Given the description of an element on the screen output the (x, y) to click on. 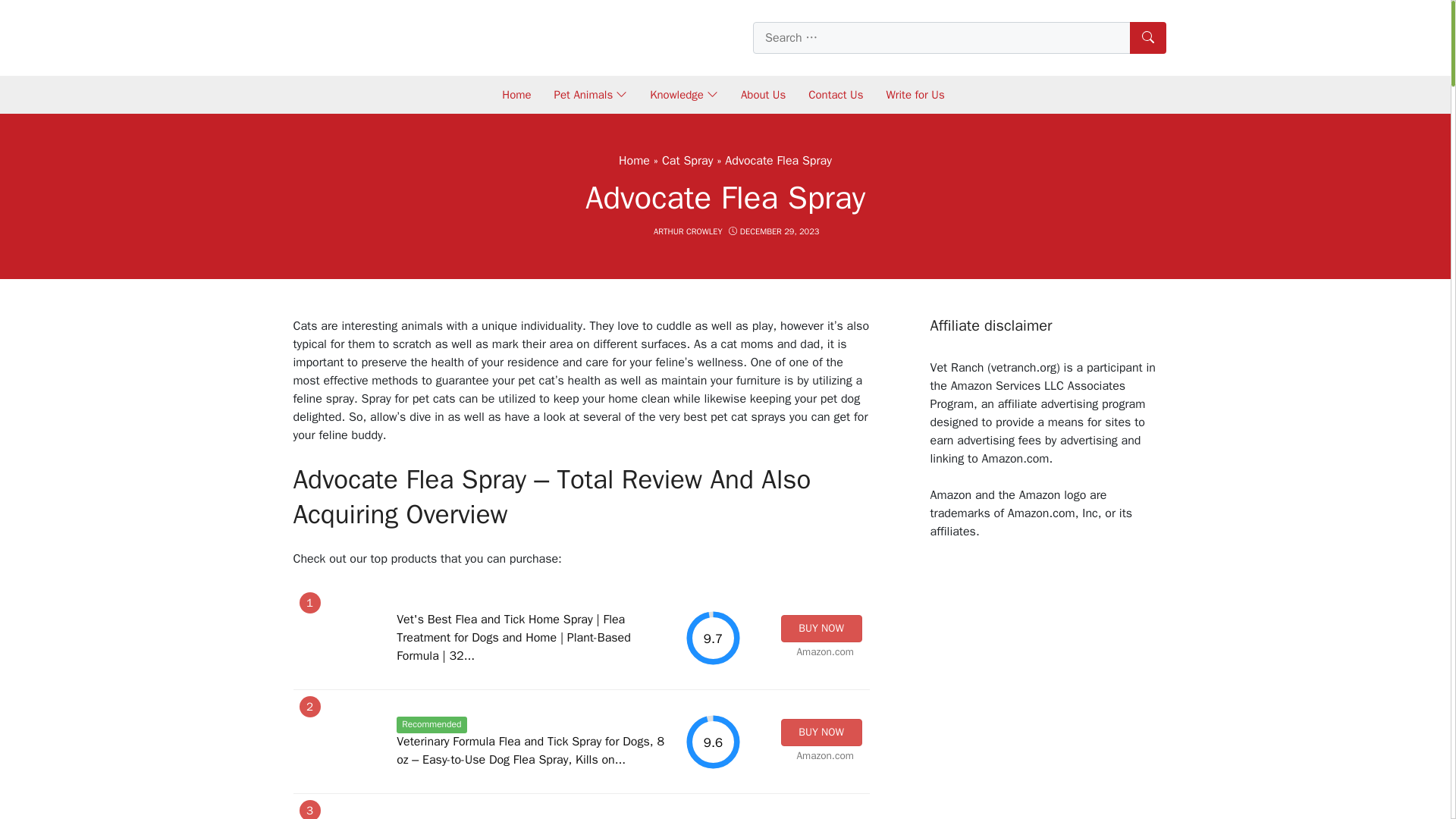
9.1 (712, 818)
Vet Ranch (386, 37)
9.7 (712, 637)
Search for: (959, 38)
9.6 (712, 741)
View all posts by Arthur Crowley (687, 231)
Pet Animals (590, 94)
Vet Ranch (386, 37)
